Given the description of an element on the screen output the (x, y) to click on. 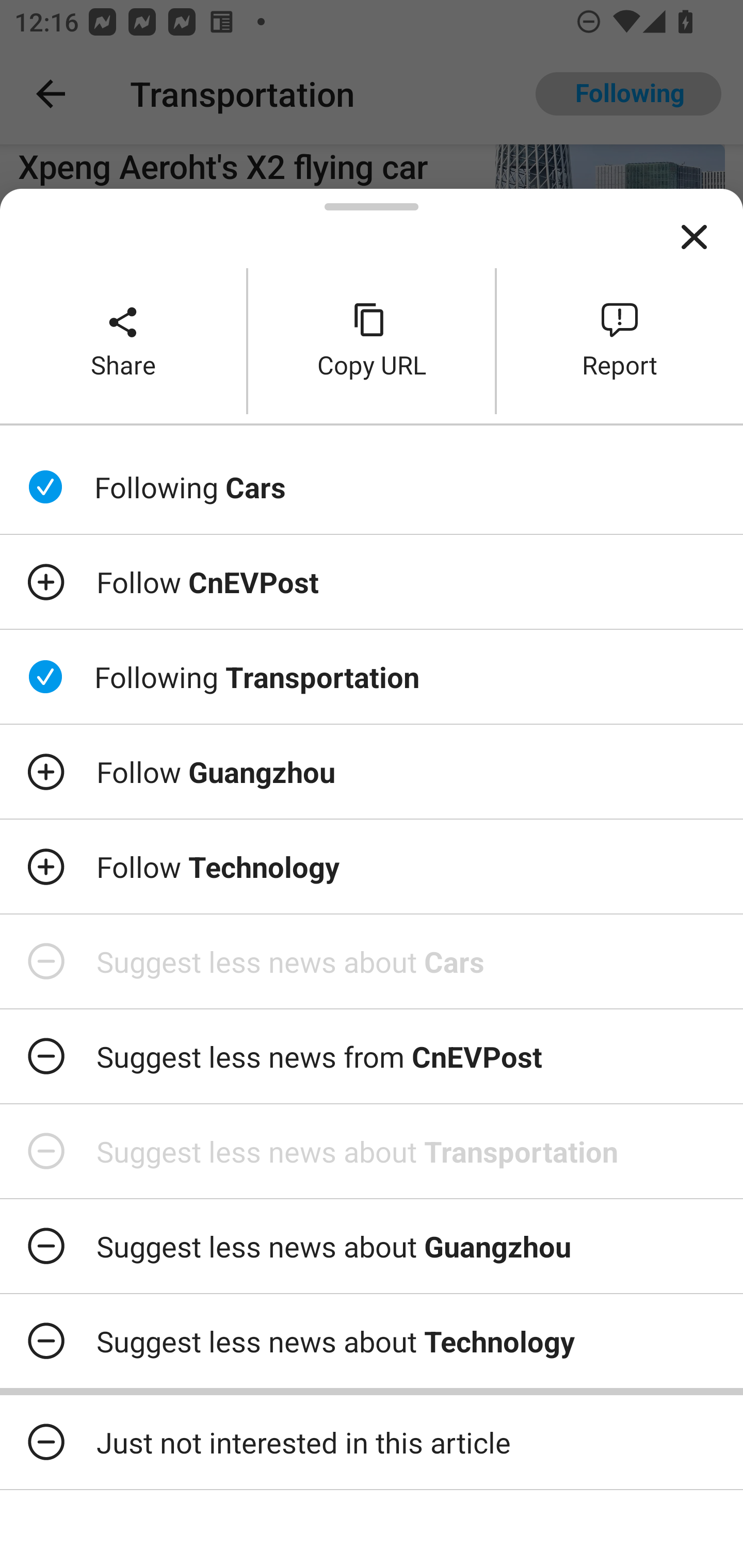
Close (694, 237)
Share (122, 340)
Copy URL (371, 340)
Report (620, 340)
Following Cars (371, 486)
Follow CnEVPost (371, 581)
Following Transportation (371, 677)
Follow Guangzhou (371, 771)
Follow Technology (371, 867)
Suggest less news from CnEVPost (371, 1056)
Suggest less news about Guangzhou (371, 1246)
Suggest less news about Technology (371, 1340)
Just not interested in this article (371, 1442)
